Given the description of an element on the screen output the (x, y) to click on. 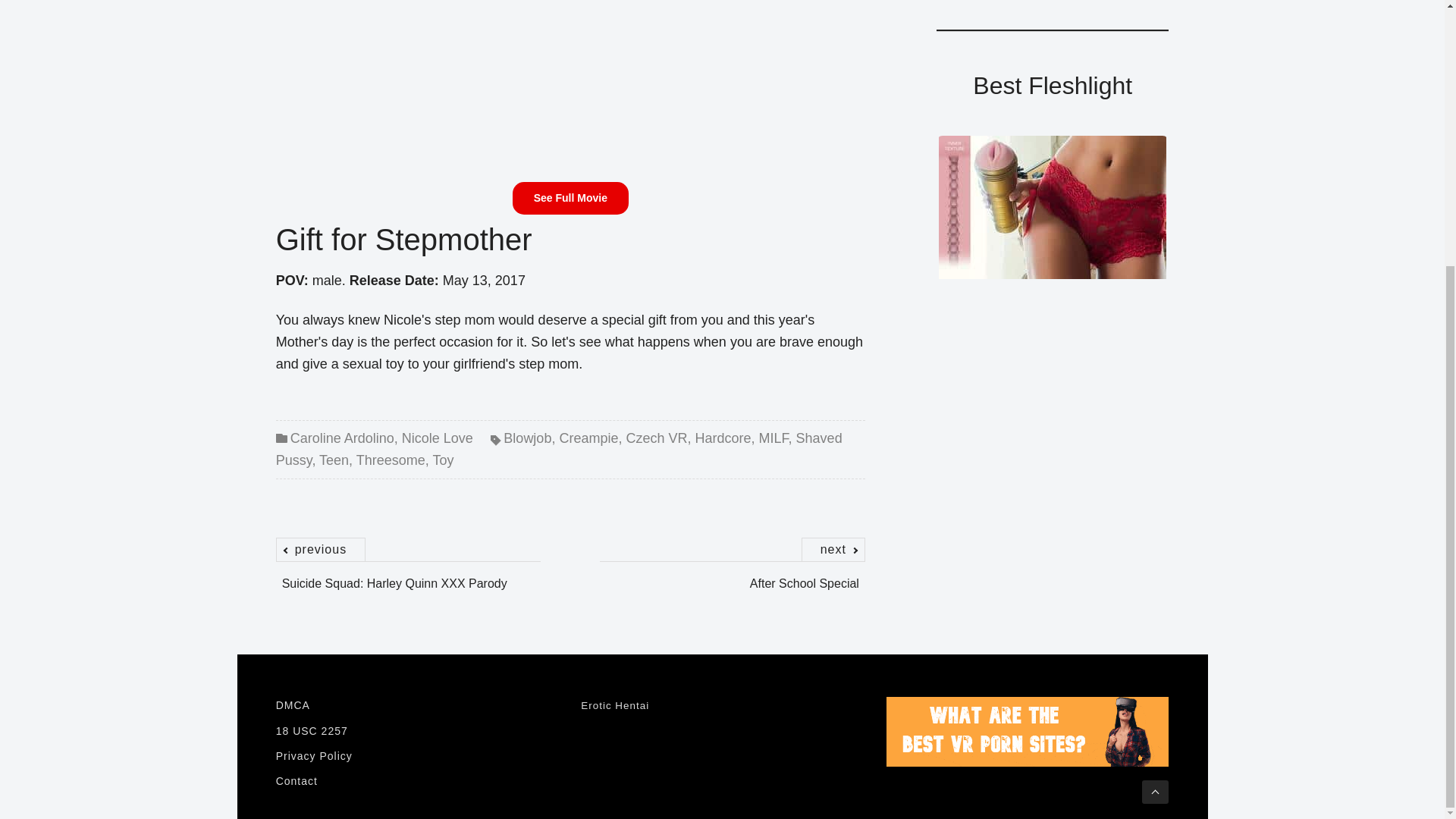
Contact (416, 781)
Shaved Pussy (559, 448)
Nicole Love (437, 437)
Teen (333, 459)
Caroline Ardolino (341, 437)
Czech VR (656, 437)
See Full Movie (570, 197)
Gift for Stepmother with Caroline Ardolino,Nicole Love (408, 583)
18 USC 2257 (570, 88)
